Given the description of an element on the screen output the (x, y) to click on. 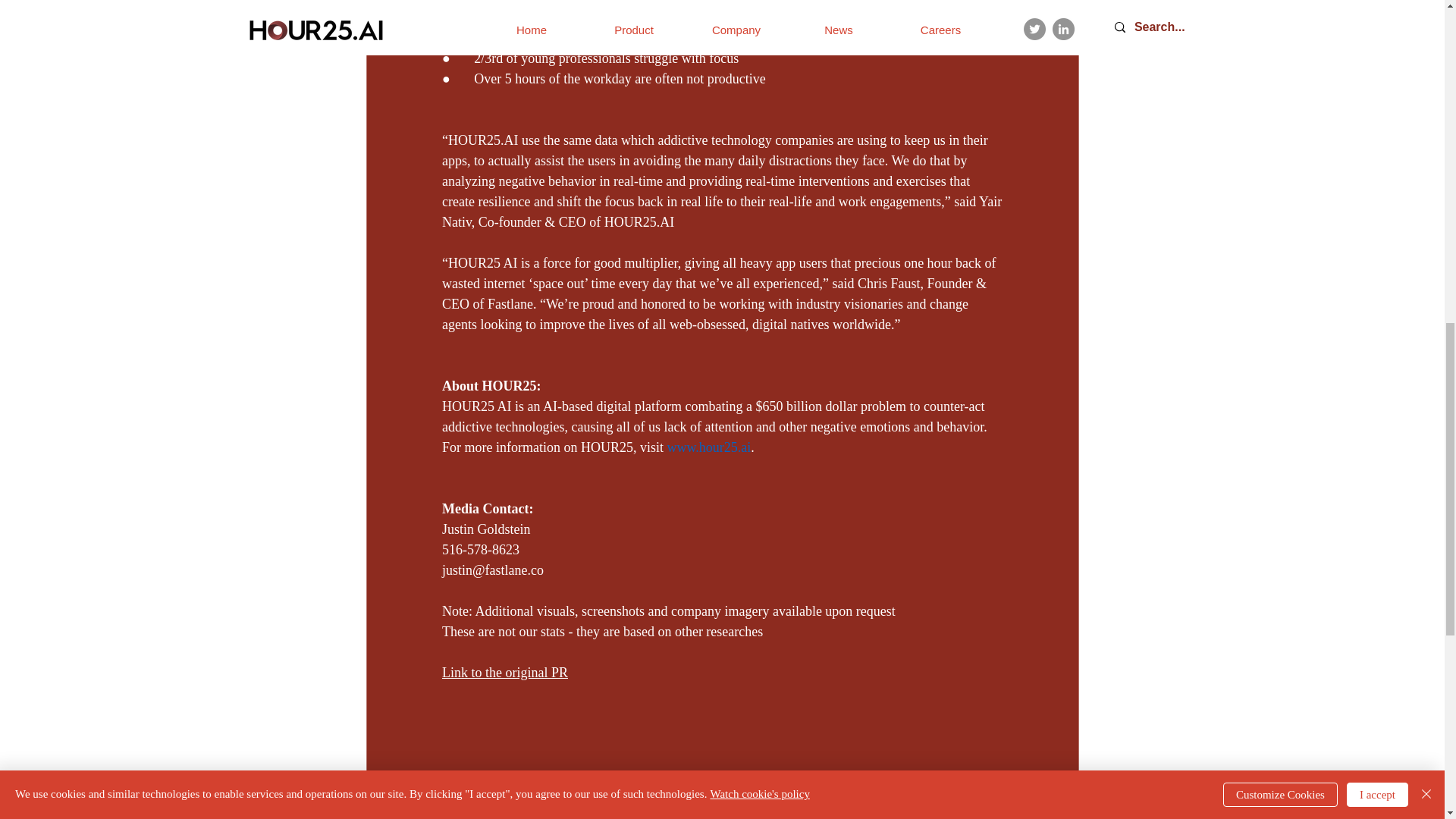
www.hour25.ai (708, 447)
Link to the original PR (504, 672)
